Given the description of an element on the screen output the (x, y) to click on. 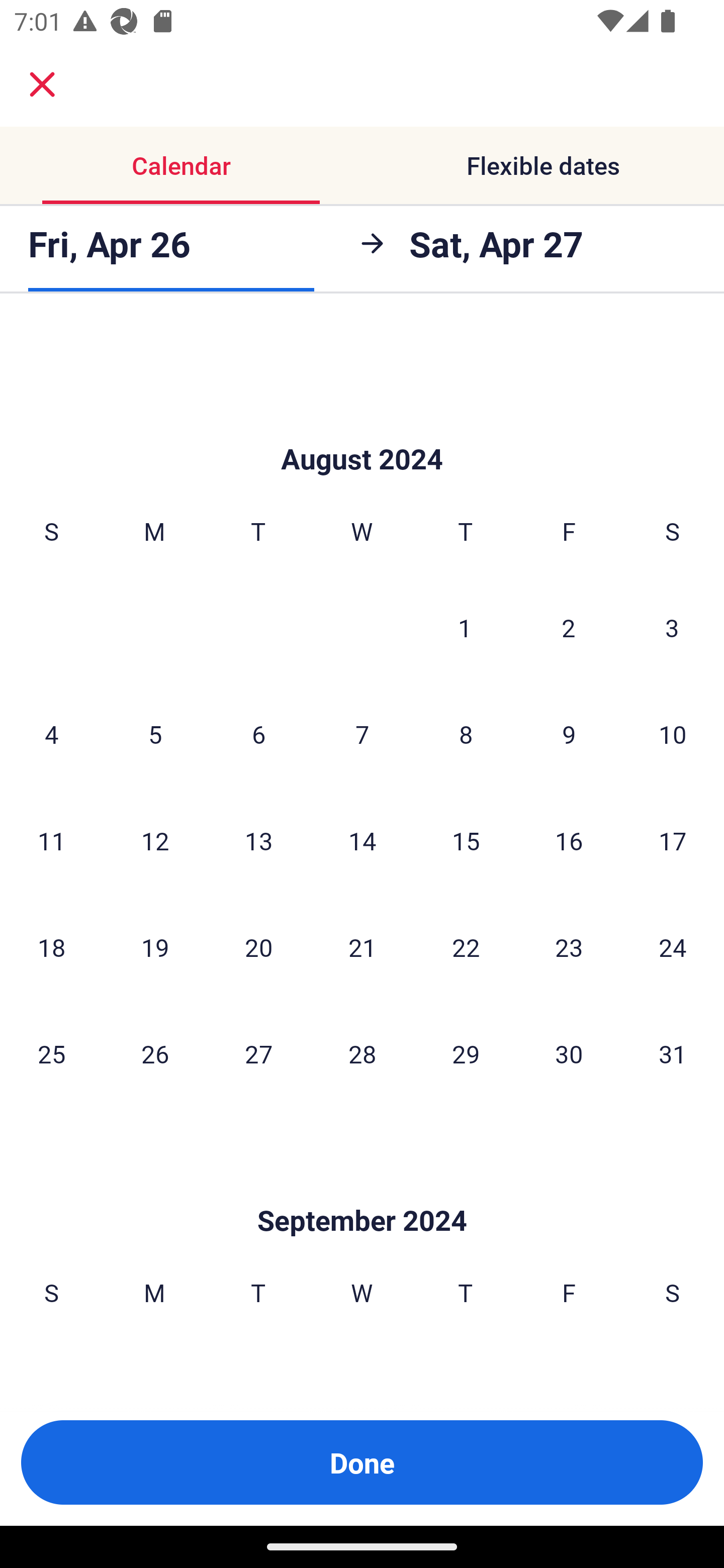
close. (42, 84)
Flexible dates (542, 164)
Skip to Done (362, 429)
1 Thursday, August 1, 2024 (464, 626)
2 Friday, August 2, 2024 (568, 626)
3 Saturday, August 3, 2024 (672, 626)
4 Sunday, August 4, 2024 (51, 733)
5 Monday, August 5, 2024 (155, 733)
6 Tuesday, August 6, 2024 (258, 733)
7 Wednesday, August 7, 2024 (362, 733)
8 Thursday, August 8, 2024 (465, 733)
9 Friday, August 9, 2024 (569, 733)
10 Saturday, August 10, 2024 (672, 733)
11 Sunday, August 11, 2024 (51, 840)
12 Monday, August 12, 2024 (155, 840)
13 Tuesday, August 13, 2024 (258, 840)
14 Wednesday, August 14, 2024 (362, 840)
15 Thursday, August 15, 2024 (465, 840)
16 Friday, August 16, 2024 (569, 840)
17 Saturday, August 17, 2024 (672, 840)
18 Sunday, August 18, 2024 (51, 946)
19 Monday, August 19, 2024 (155, 946)
20 Tuesday, August 20, 2024 (258, 946)
21 Wednesday, August 21, 2024 (362, 946)
22 Thursday, August 22, 2024 (465, 946)
23 Friday, August 23, 2024 (569, 946)
24 Saturday, August 24, 2024 (672, 946)
25 Sunday, August 25, 2024 (51, 1053)
26 Monday, August 26, 2024 (155, 1053)
27 Tuesday, August 27, 2024 (258, 1053)
28 Wednesday, August 28, 2024 (362, 1053)
29 Thursday, August 29, 2024 (465, 1053)
30 Friday, August 30, 2024 (569, 1053)
31 Saturday, August 31, 2024 (672, 1053)
Skip to Done (362, 1189)
Done (361, 1462)
